Given the description of an element on the screen output the (x, y) to click on. 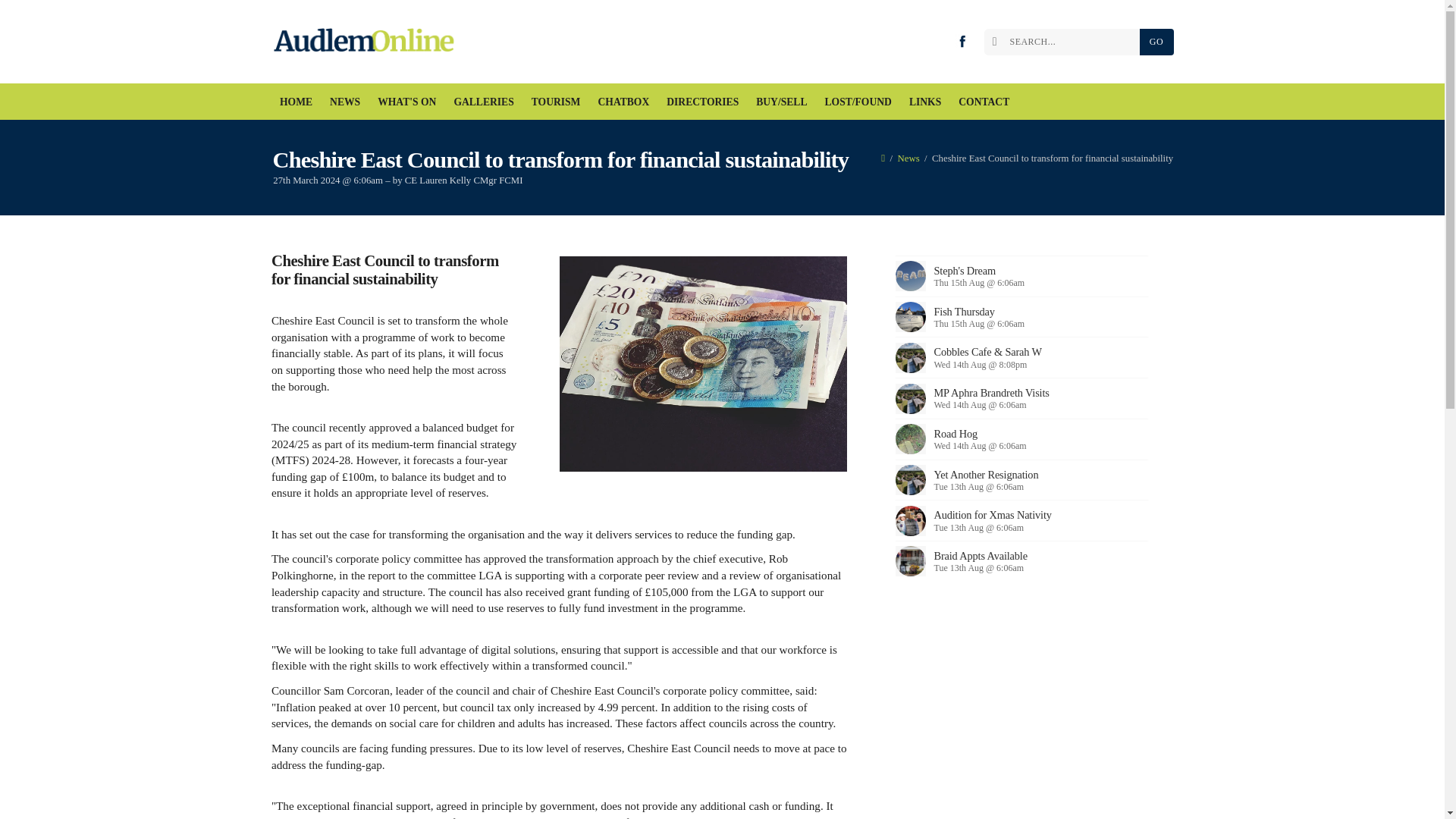
SEARCH... (1065, 41)
TOURISM (555, 101)
CHATBOX (623, 101)
LINKS (924, 101)
WHAT'S ON (407, 101)
GO (1155, 41)
AudlemOnline Home (366, 41)
DIRECTORIES (703, 101)
GALLERIES (483, 101)
